Given the description of an element on the screen output the (x, y) to click on. 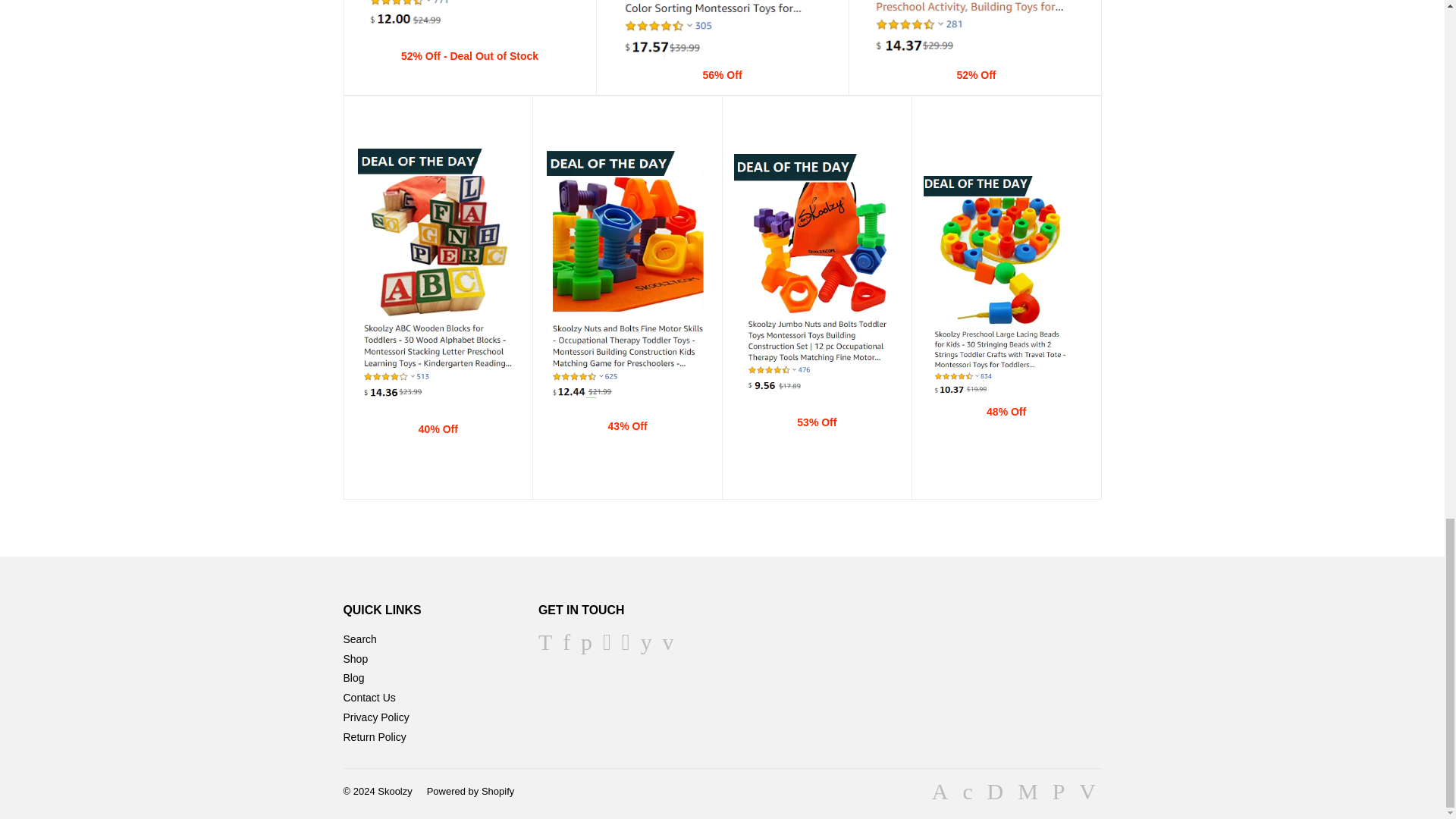
Skoolzy on YouTube (646, 645)
Nuts and Bolts Set (816, 393)
Skoolzy on Twitter (544, 645)
Primary Lacing Beads (469, 28)
Straws and Connectors (974, 57)
Skoolzy on Instagram (625, 645)
Skoolzy on Facebook (566, 645)
Lacing Beads (1006, 394)
Skoolzy on Google (606, 645)
Alphabet Blocks (438, 400)
Jumbo Nuts and Bolts (627, 398)
Apple Factory Learning Toy (722, 66)
Skoolzy on Vimeo (668, 645)
Skoolzy on Pinterest (586, 645)
